Given the description of an element on the screen output the (x, y) to click on. 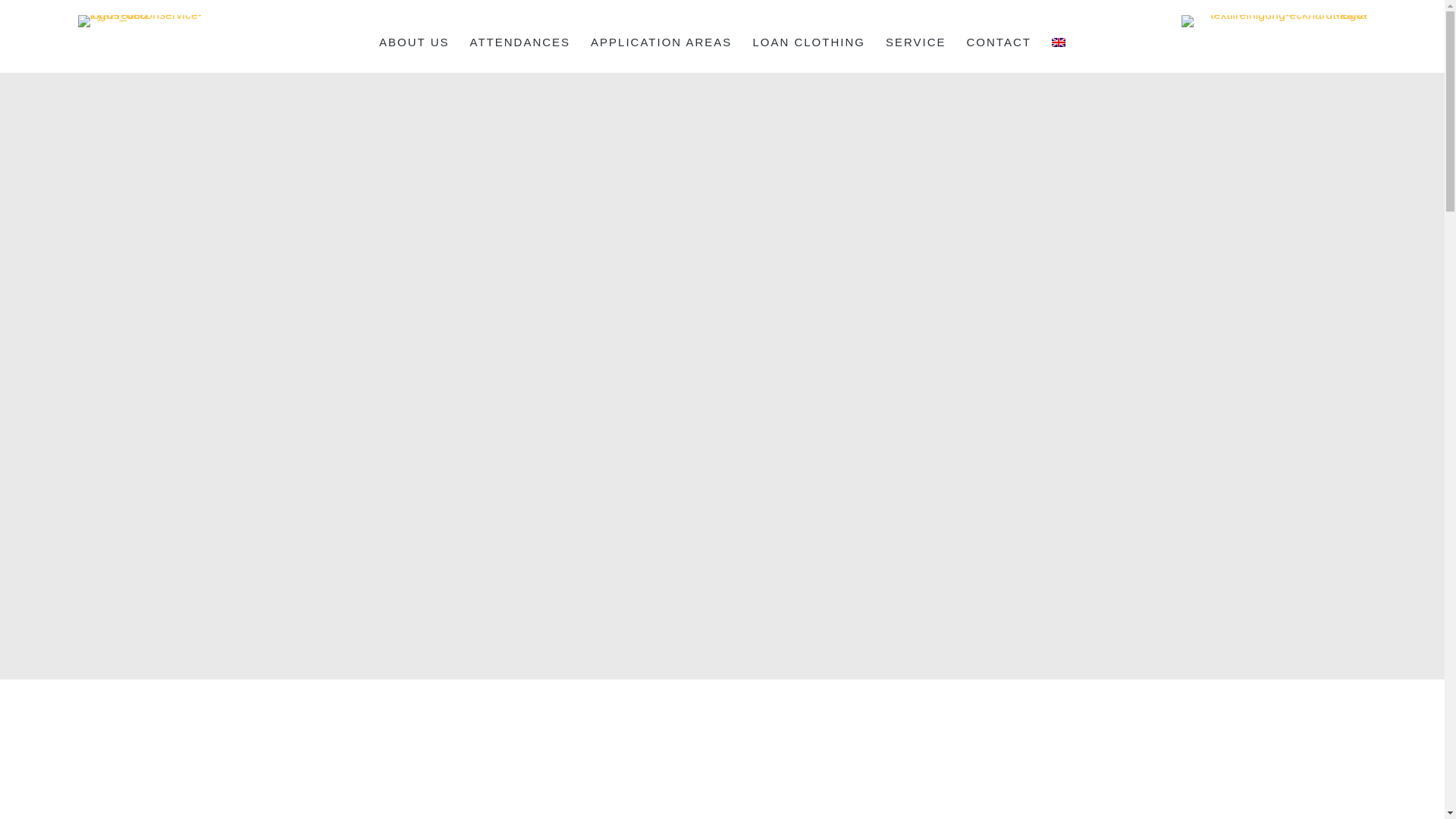
ABOUT US (413, 41)
ATTENDANCES (520, 41)
LOAN CLOTHING (808, 41)
APPLICATION AREAS (660, 41)
textilreinigung-eckhardt-logo-retina (1273, 21)
SERVICE (916, 41)
CONTACT (998, 41)
